Given the description of an element on the screen output the (x, y) to click on. 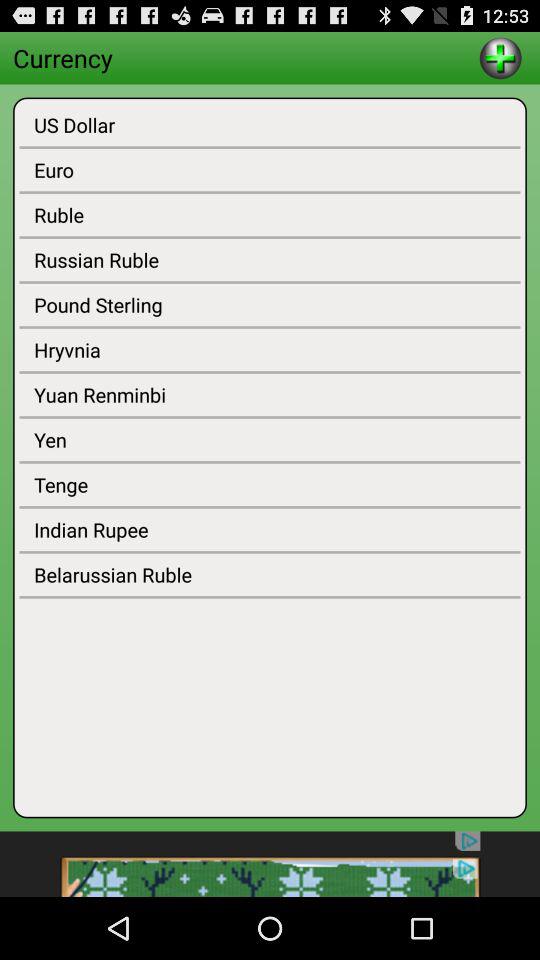
go to advertisement details (270, 864)
